Given the description of an element on the screen output the (x, y) to click on. 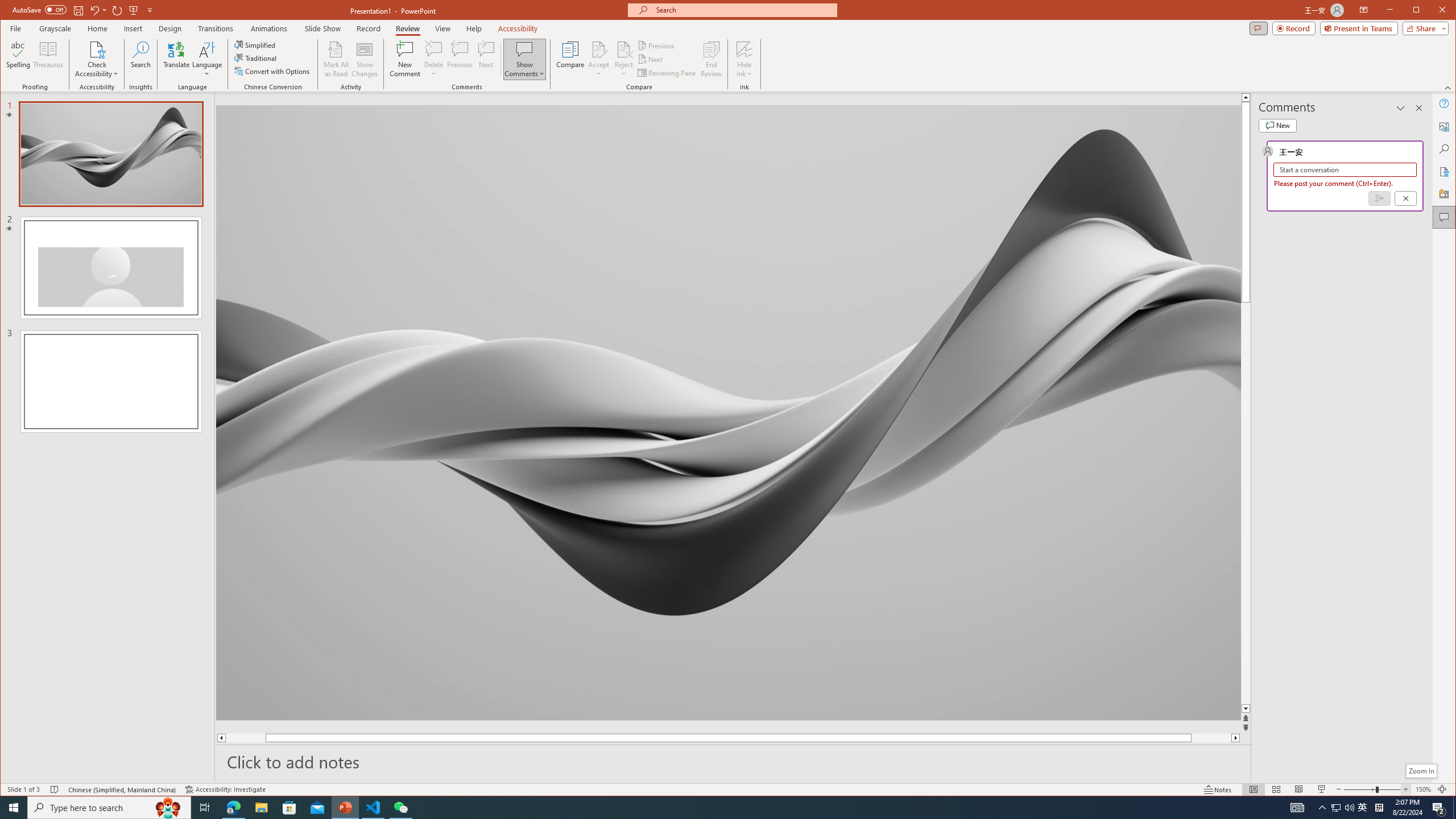
Reject Change (623, 48)
Previous (657, 45)
Mark All as Read (335, 59)
